Given the description of an element on the screen output the (x, y) to click on. 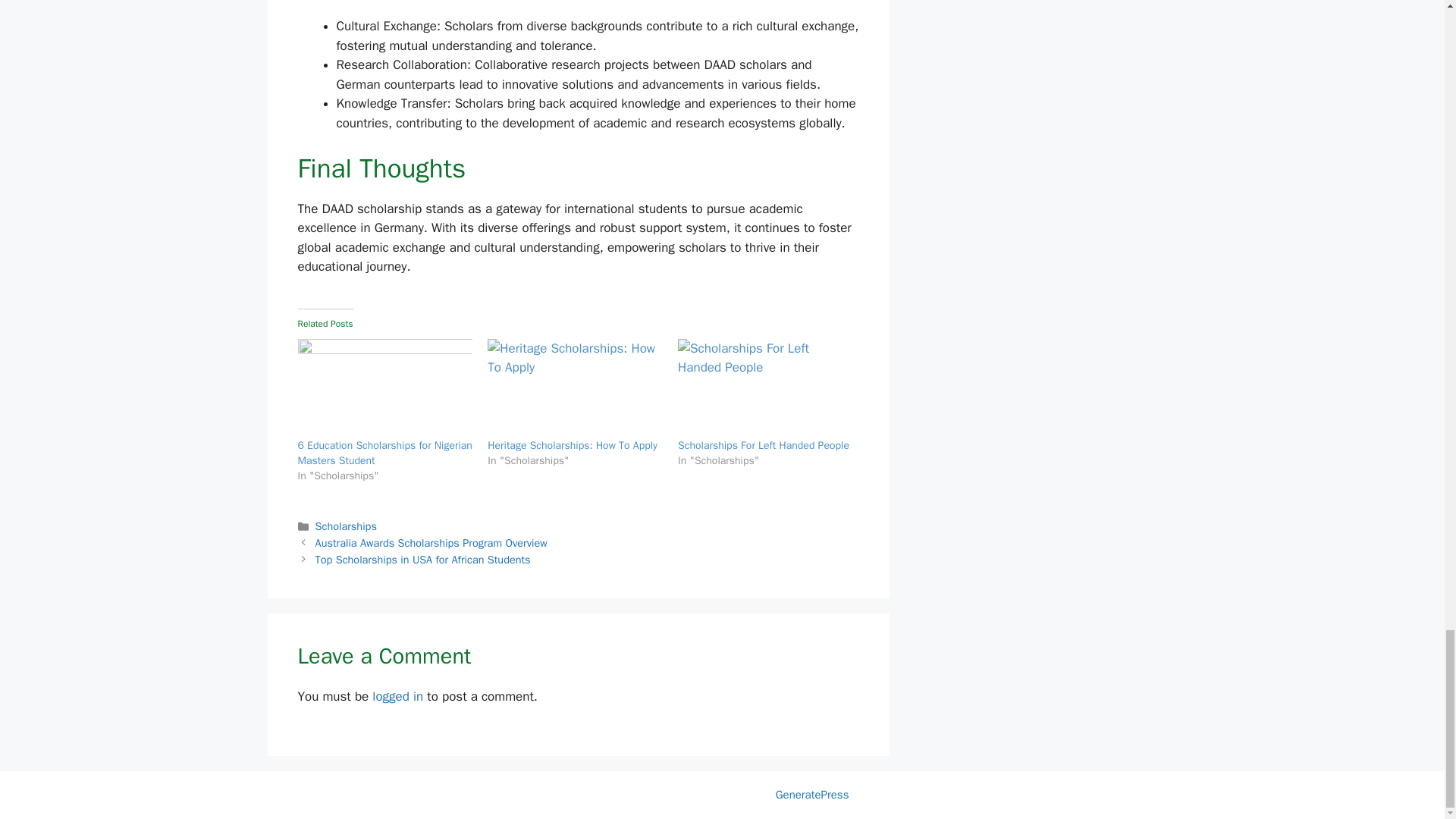
Heritage Scholarships: How To Apply (574, 388)
Heritage Scholarships: How To Apply (572, 445)
logged in (397, 696)
Top Scholarships in USA for African Students (423, 559)
6 Education Scholarships for Nigerian Masters Student (384, 388)
Scholarships For Left Handed People (765, 388)
6 Education Scholarships for Nigerian Masters Student (384, 452)
Heritage Scholarships: How To Apply (572, 445)
GeneratePress (812, 794)
Australia Awards Scholarships Program Overview (431, 542)
Scholarships (346, 526)
Scholarships For Left Handed People (763, 445)
6 Education Scholarships for Nigerian Masters Student (384, 452)
Scholarships For Left Handed People (763, 445)
